Given the description of an element on the screen output the (x, y) to click on. 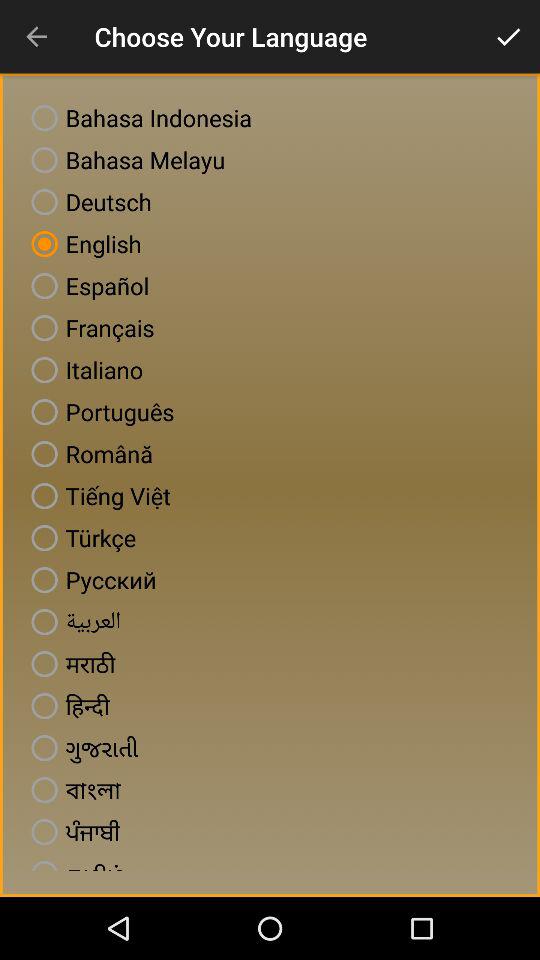
select the icon above the english item (87, 202)
